Given the description of an element on the screen output the (x, y) to click on. 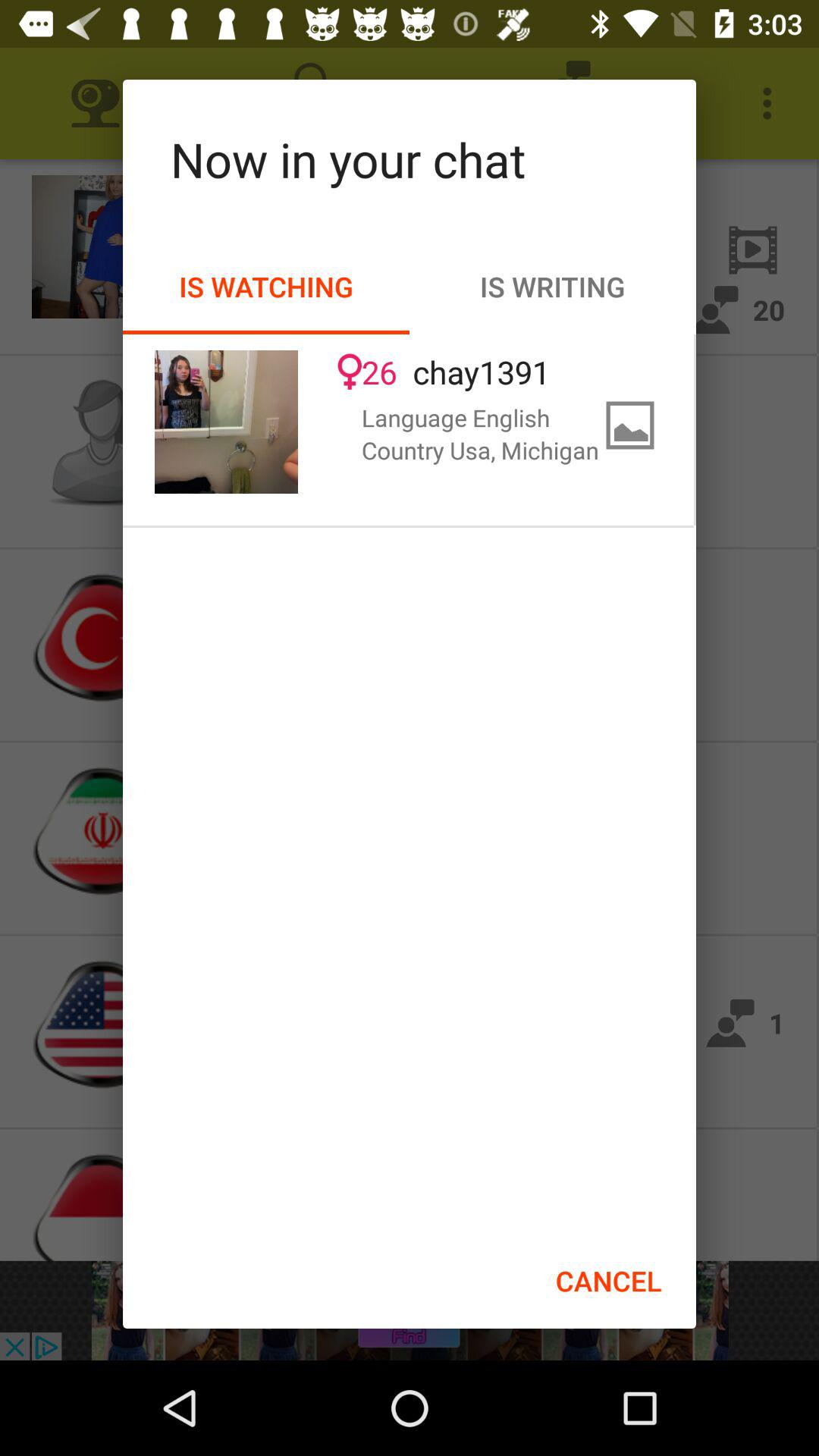
open chat menu (226, 421)
